Given the description of an element on the screen output the (x, y) to click on. 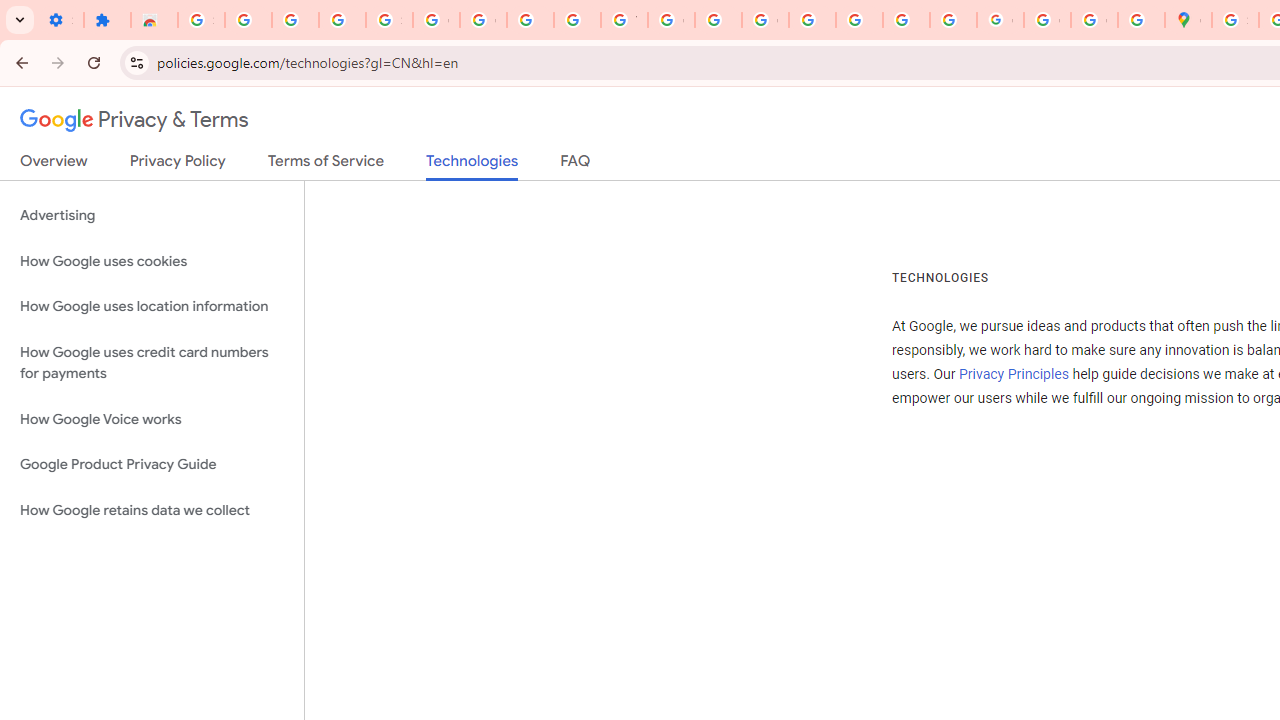
Privacy Principles (1013, 374)
